Given the description of an element on the screen output the (x, y) to click on. 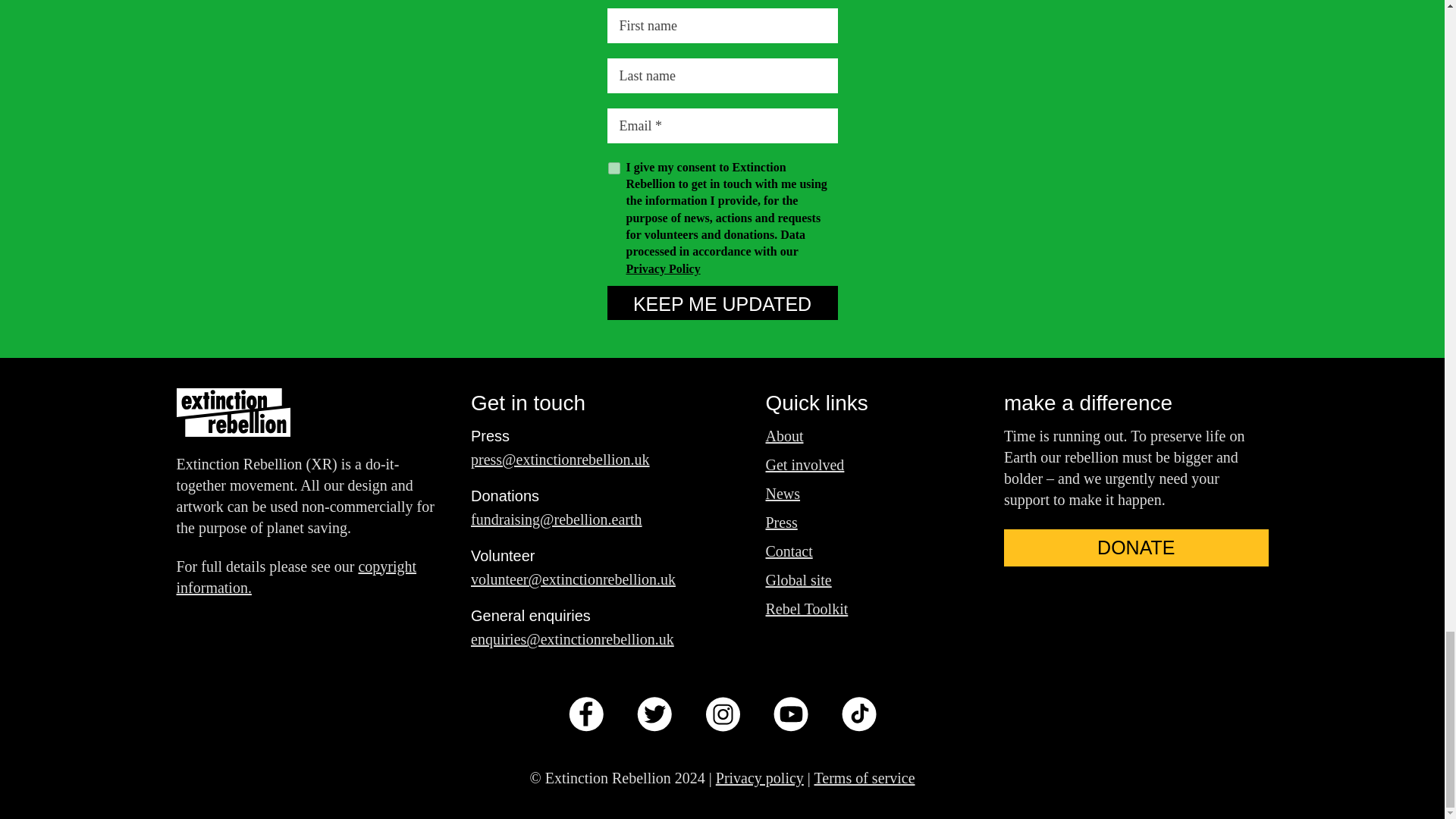
Yes (614, 168)
Keep me updated (722, 302)
